Given the description of an element on the screen output the (x, y) to click on. 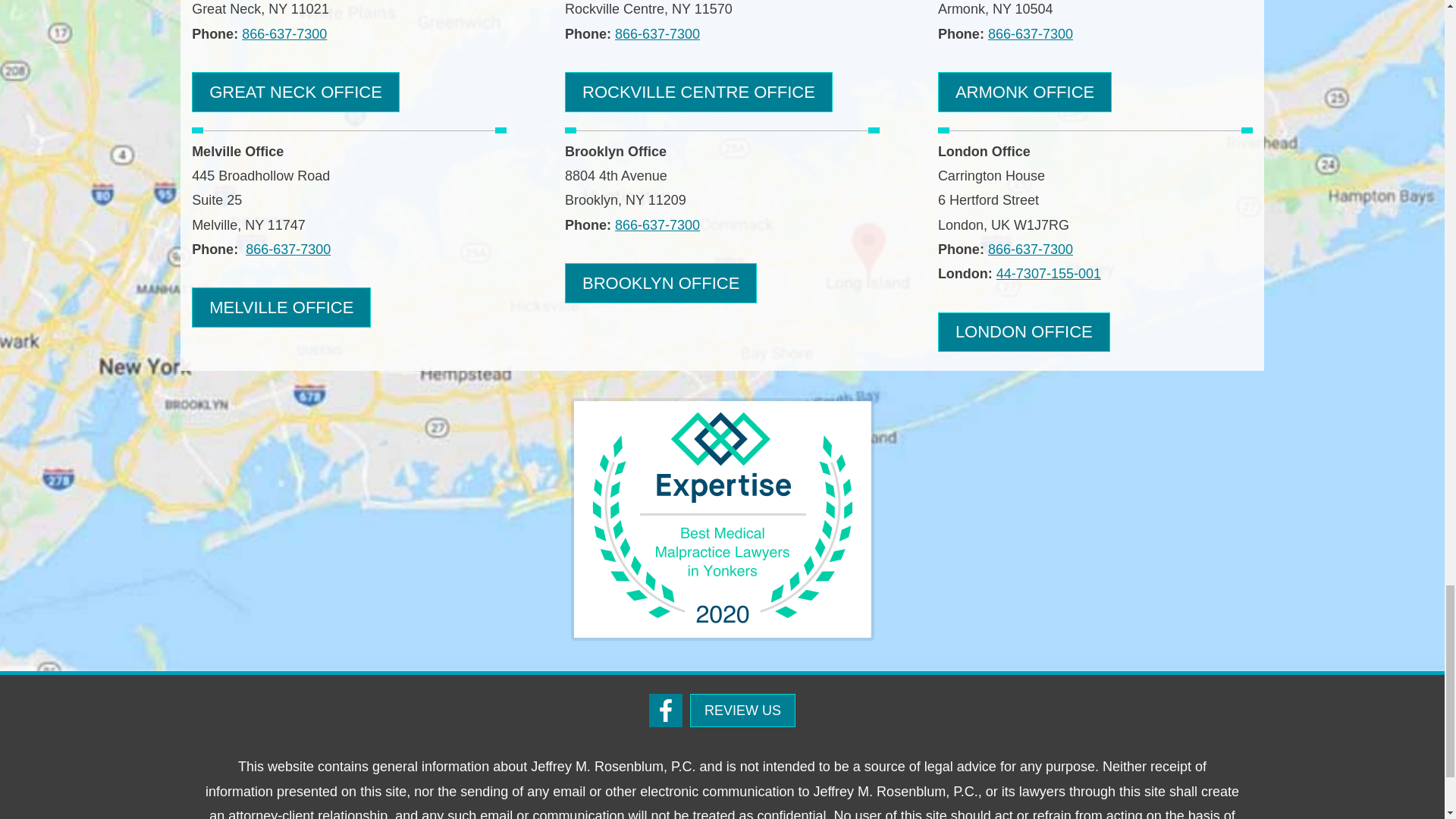
Great Neck Law Office (295, 92)
